Given the description of an element on the screen output the (x, y) to click on. 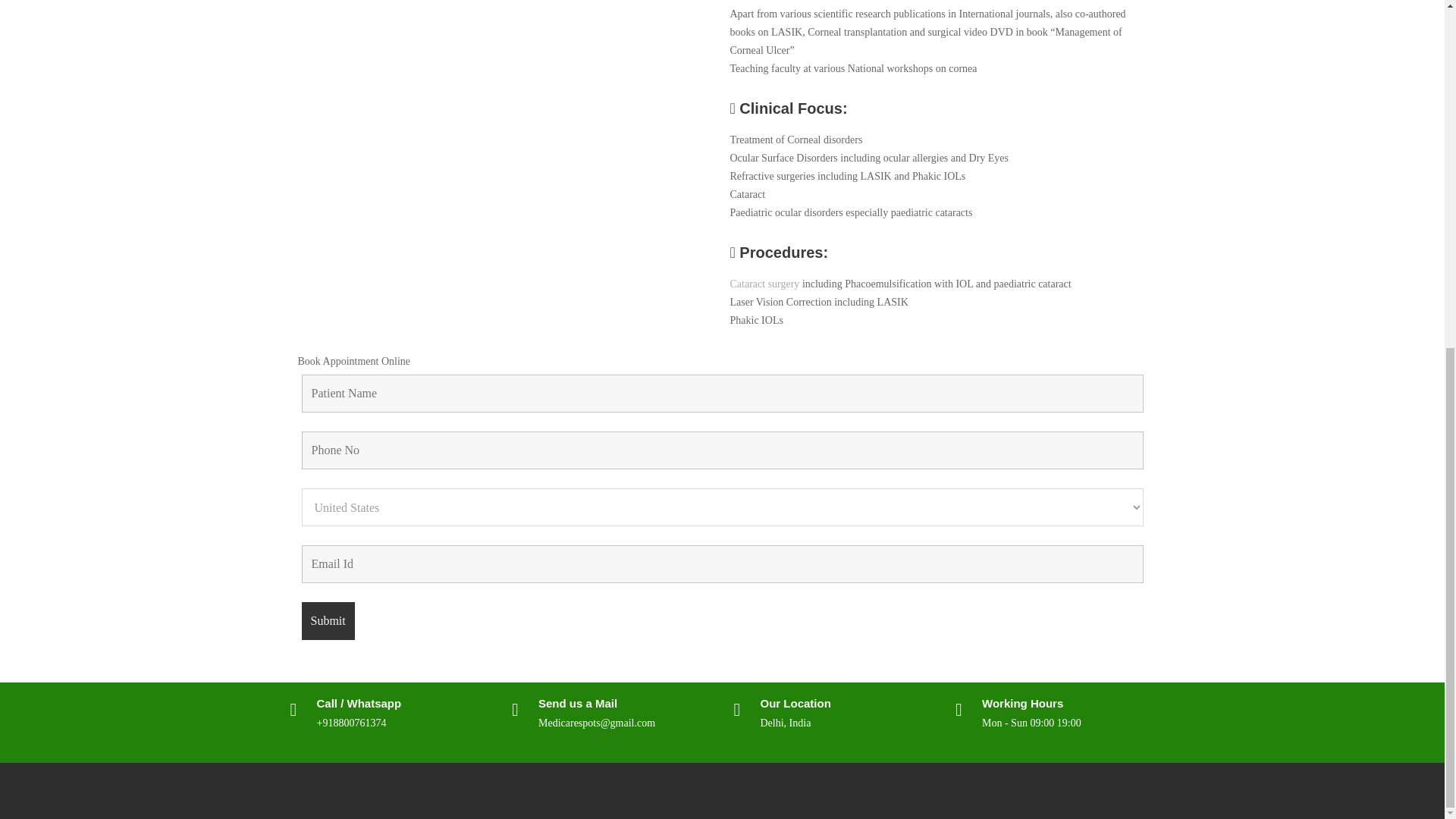
Submit (328, 620)
Cataract surgery (764, 283)
Submit (328, 620)
